Given the description of an element on the screen output the (x, y) to click on. 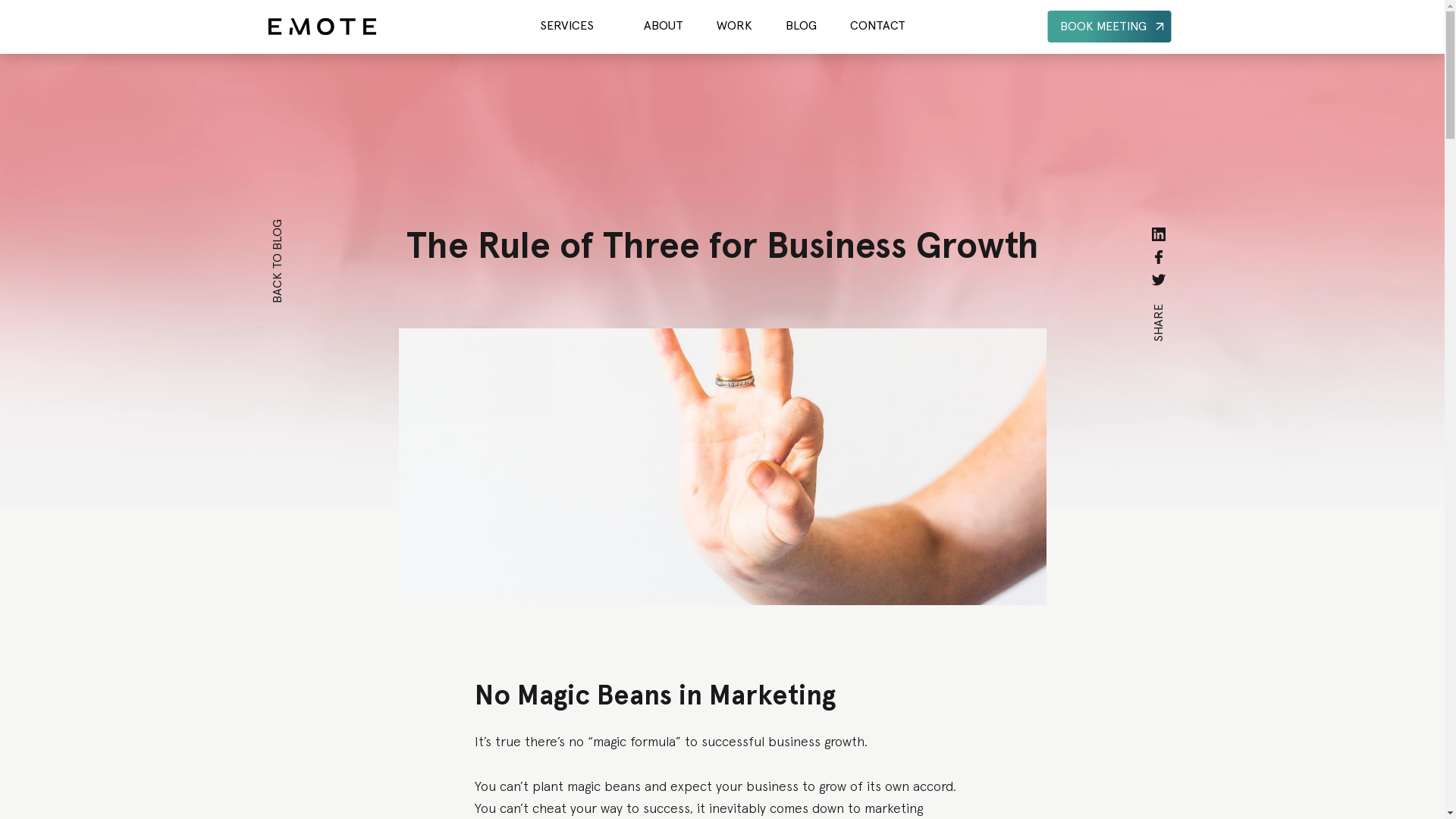
BACK TO BLOG Element type: text (313, 225)
BLOG Element type: text (800, 25)
BOOK MEETING Element type: text (1108, 26)
Back to home Element type: hover (322, 26)
ABOUT Element type: text (662, 25)
Skip to main content Element type: text (257, 7)
SERVICES Element type: text (566, 25)
CONTACT Element type: text (876, 25)
WORK Element type: text (733, 25)
